Given the description of an element on the screen output the (x, y) to click on. 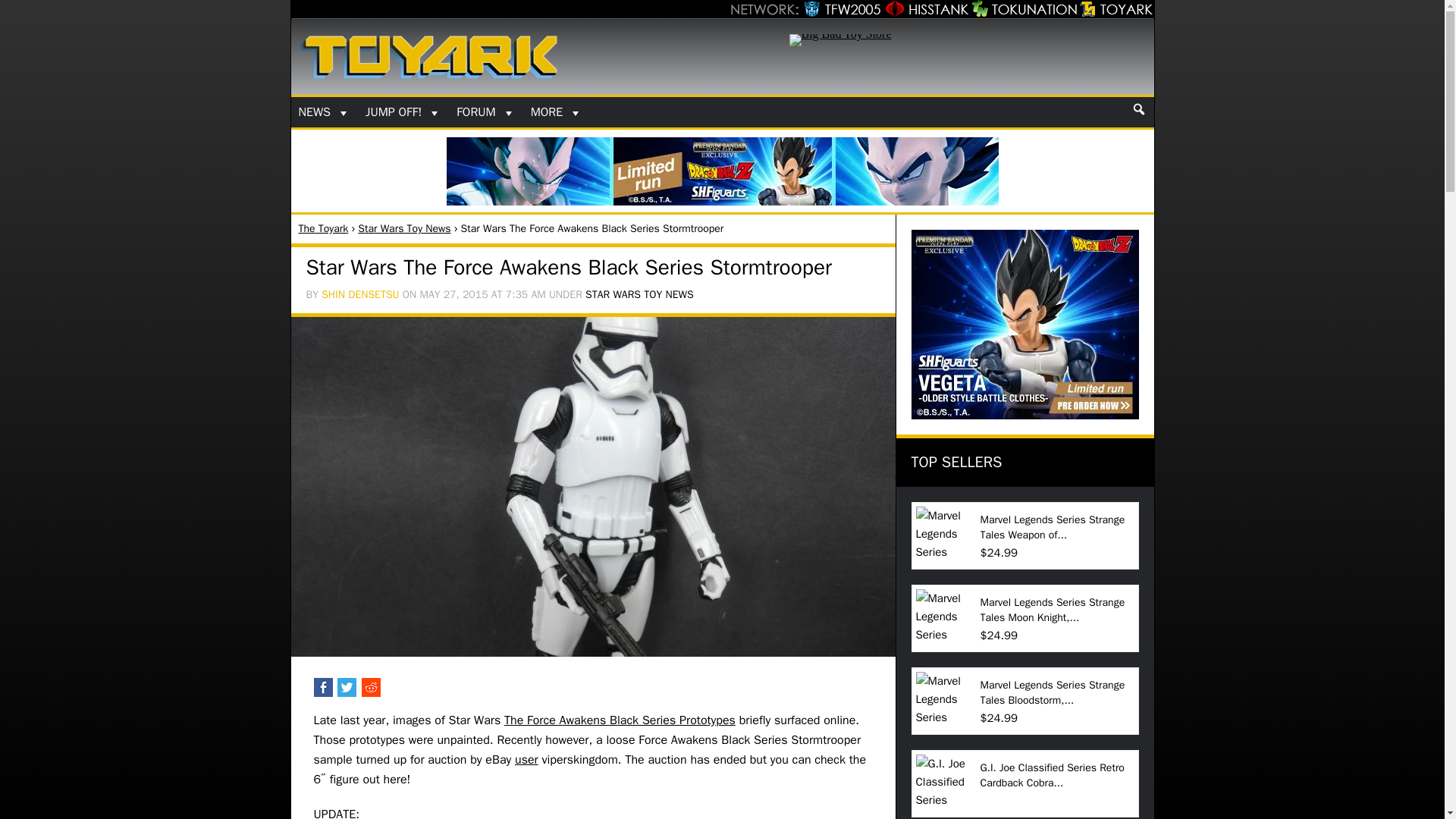
NEWS (324, 112)
MORE (556, 112)
JUMP OFF! (403, 112)
Additional Images (593, 652)
FORUM (485, 112)
Share with friends on Facebook (324, 693)
Share with followers on Twitter (347, 693)
Visit Toyark.com for Action Figures and Toys (1115, 9)
